Given the description of an element on the screen output the (x, y) to click on. 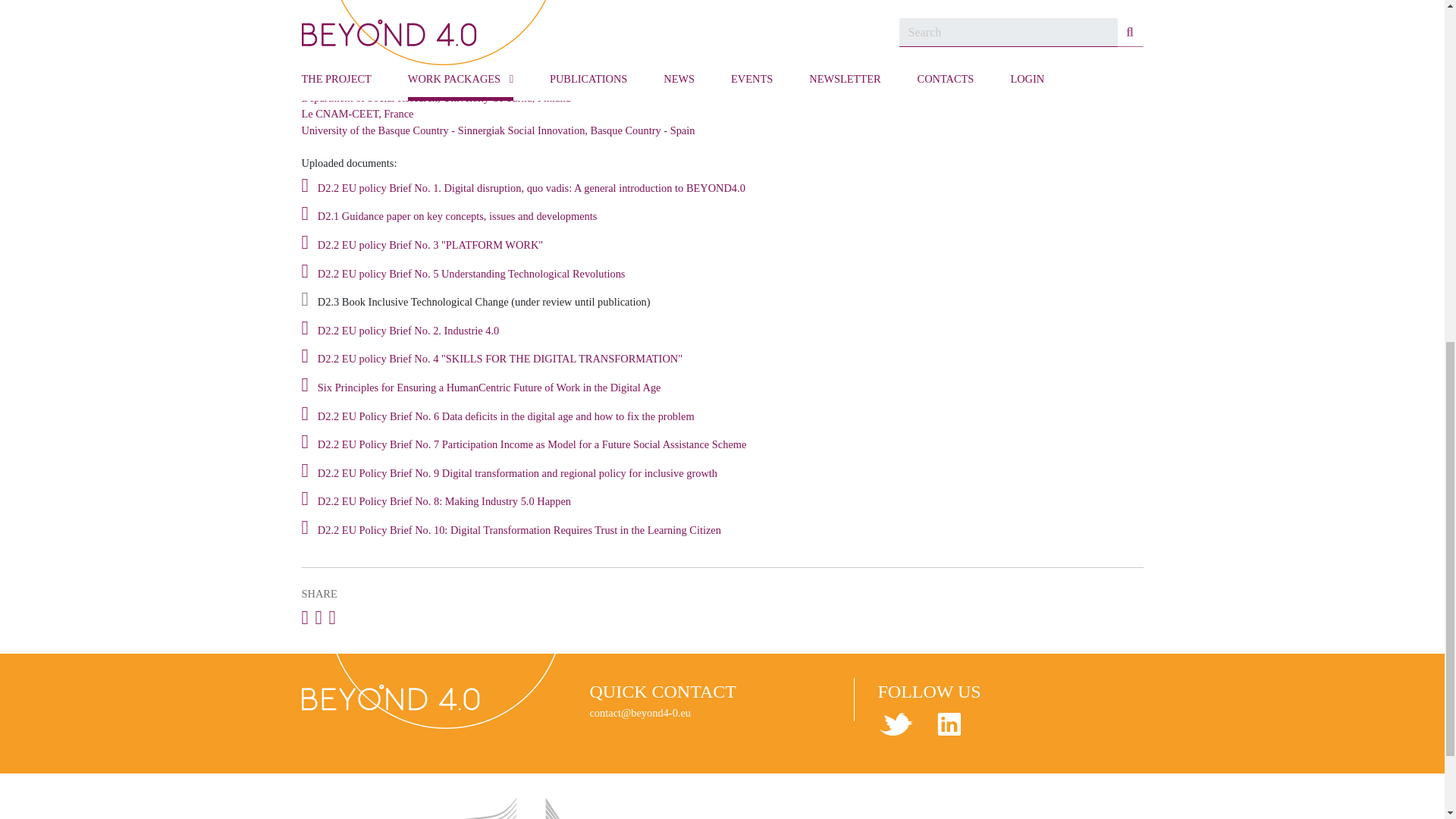
Le CNAM-CEET, France (357, 113)
Department of Social Research, University Of Turku, Finland (435, 97)
D2.2 EU policy Brief No. 3 "PLATFORM WORK" (430, 245)
D2.1 Guidance paper on key concepts, issues and developments (456, 216)
